Given the description of an element on the screen output the (x, y) to click on. 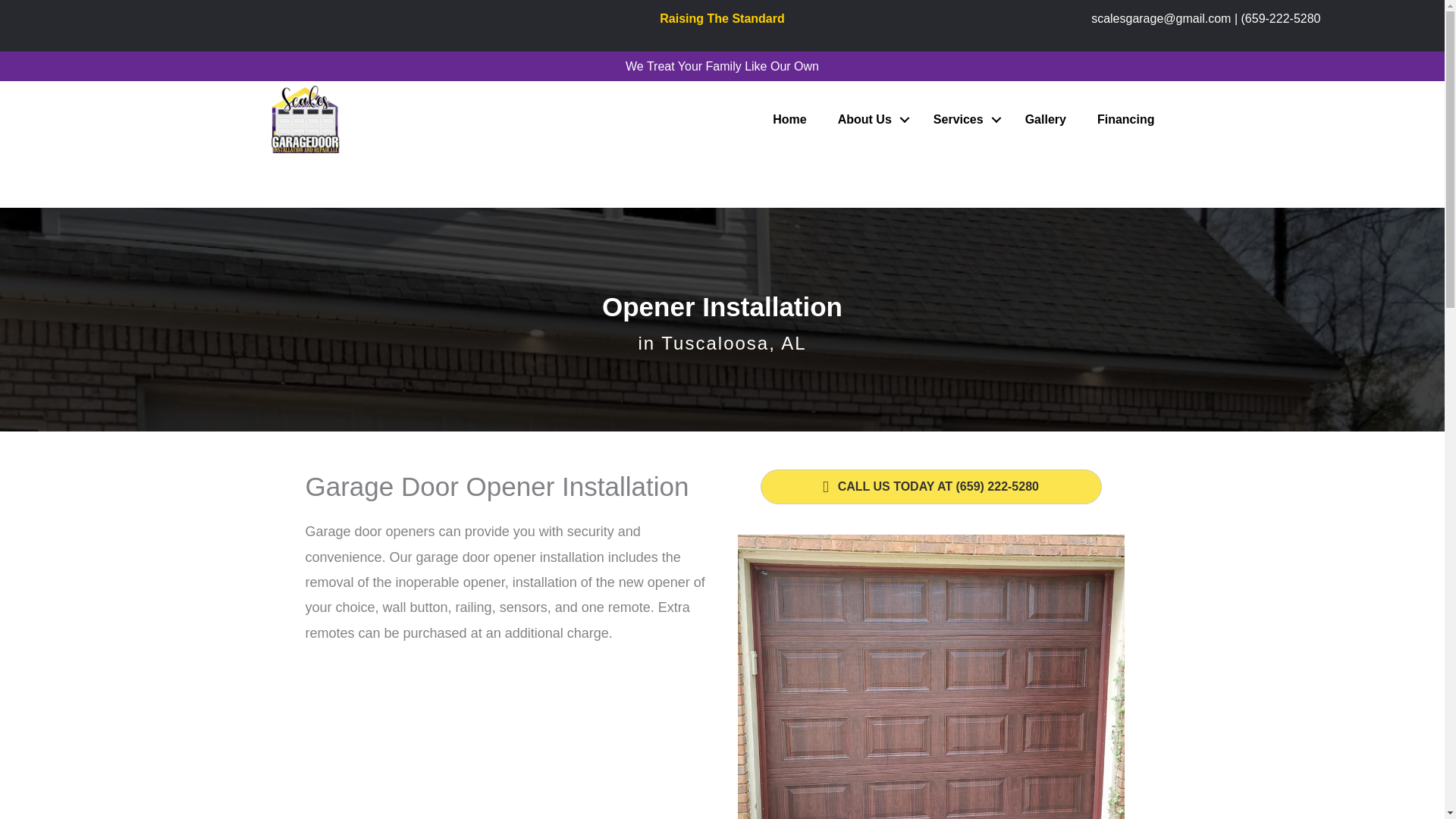
Services (963, 119)
New Construction (930, 676)
About Us (869, 119)
Financing (1125, 119)
Gallery (1045, 119)
logo (351, 119)
Home (789, 119)
